Given the description of an element on the screen output the (x, y) to click on. 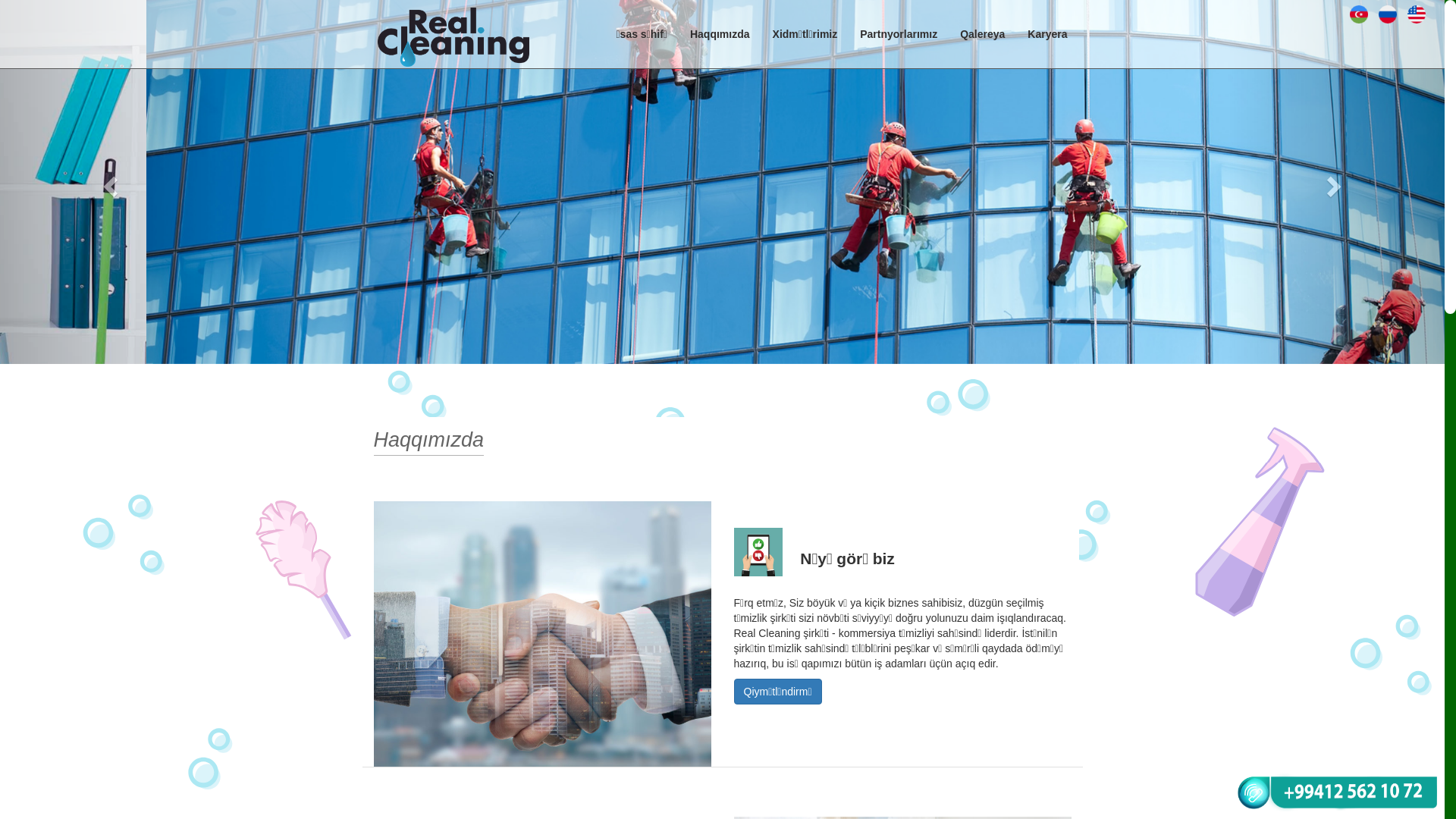
Previous Element type: text (108, 182)
Qalereya Element type: text (982, 34)
Karyera Element type: text (1047, 34)
Next Element type: text (1335, 182)
